Given the description of an element on the screen output the (x, y) to click on. 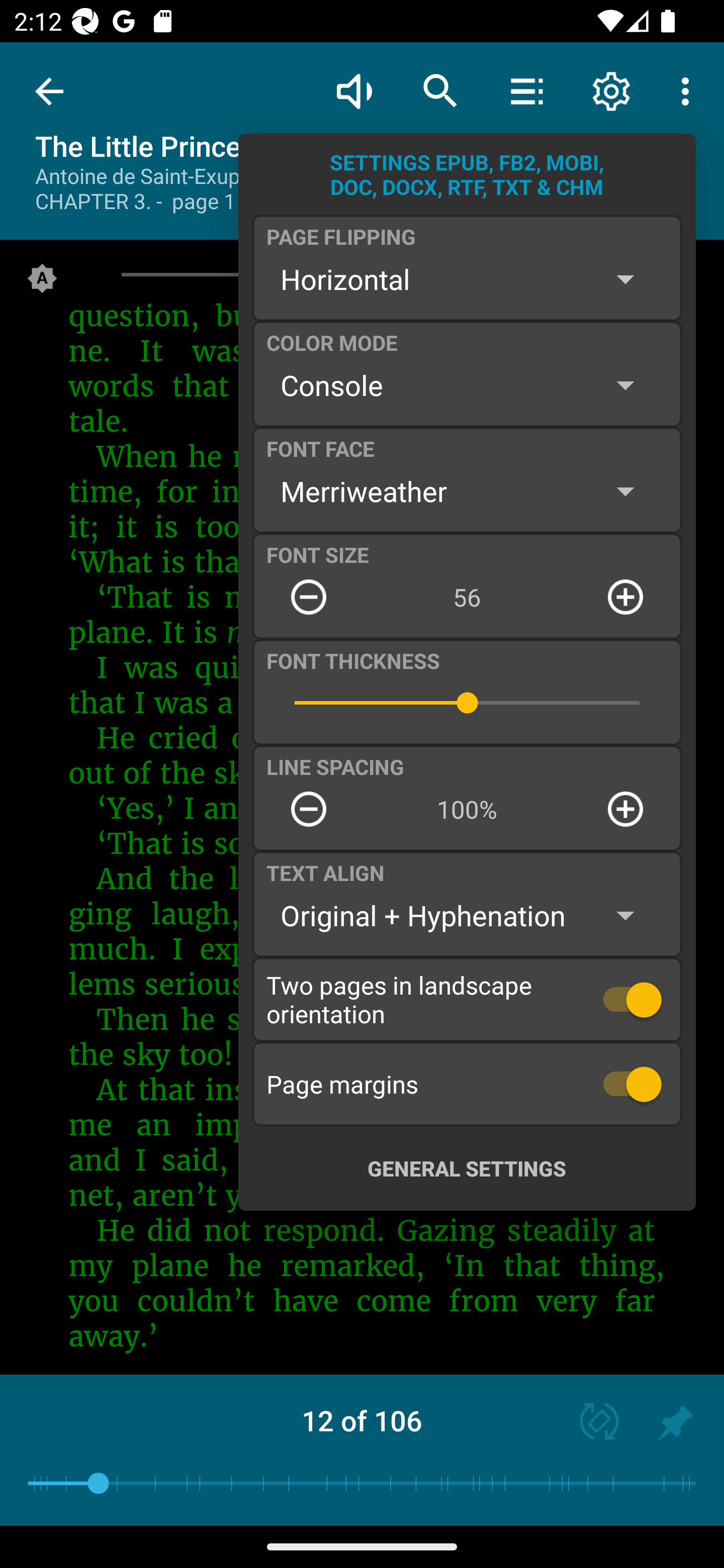
Horizontal (466, 278)
Console (466, 384)
Merriweather (466, 490)
Original + Hyphenation (466, 915)
Two pages in landscape orientation (467, 999)
Page margins (467, 1083)
GENERAL SETTINGS (466, 1167)
